Given the description of an element on the screen output the (x, y) to click on. 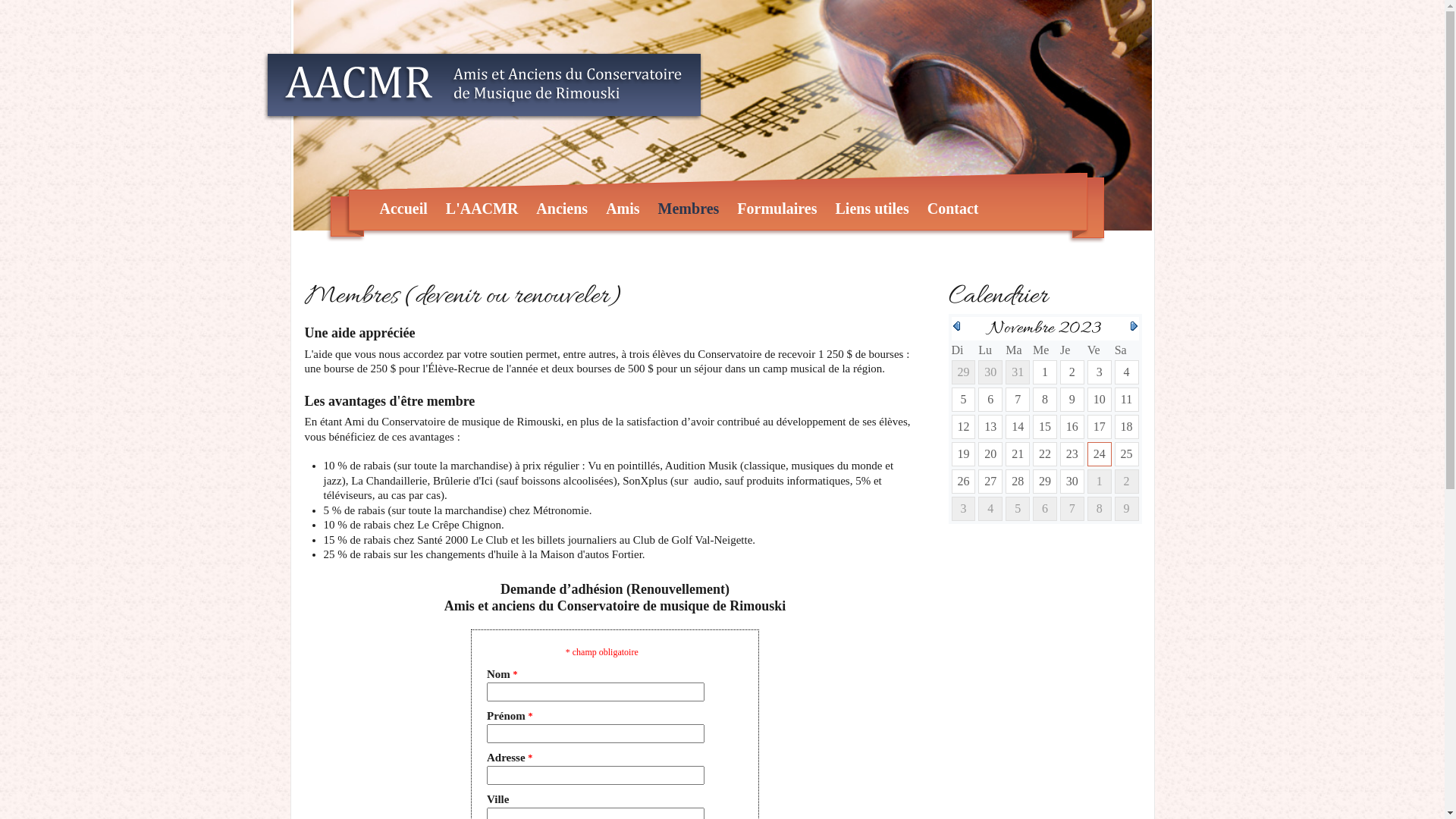
3 Element type: text (1099, 371)
16 Element type: text (1072, 426)
Accueil Element type: text (403, 208)
20 Element type: text (990, 453)
30 Element type: text (1072, 480)
Membres Element type: text (688, 208)
25 Element type: text (1126, 453)
27 Element type: text (990, 480)
28 Element type: text (1017, 480)
18 Element type: text (1126, 426)
15 Element type: text (1044, 426)
5 Element type: text (963, 398)
  Element type: text (955, 325)
12 Element type: text (963, 426)
11 Element type: text (1126, 398)
Contact Element type: text (953, 208)
29 Element type: text (1044, 480)
Liens utiles Element type: text (872, 208)
8 Element type: text (1044, 398)
7 Element type: text (1017, 398)
24 Element type: text (1099, 453)
21 Element type: text (1017, 453)
2 Element type: text (1072, 371)
10 Element type: text (1099, 398)
23 Element type: text (1072, 453)
4 Element type: text (1126, 371)
17 Element type: text (1099, 426)
13 Element type: text (990, 426)
6 Element type: text (990, 398)
1 Element type: text (1044, 371)
9 Element type: text (1072, 398)
Ce champ est requis Element type: hover (595, 692)
19 Element type: text (963, 453)
  Element type: text (1132, 325)
26 Element type: text (963, 480)
22 Element type: text (1044, 453)
14 Element type: text (1017, 426)
